Given the description of an element on the screen output the (x, y) to click on. 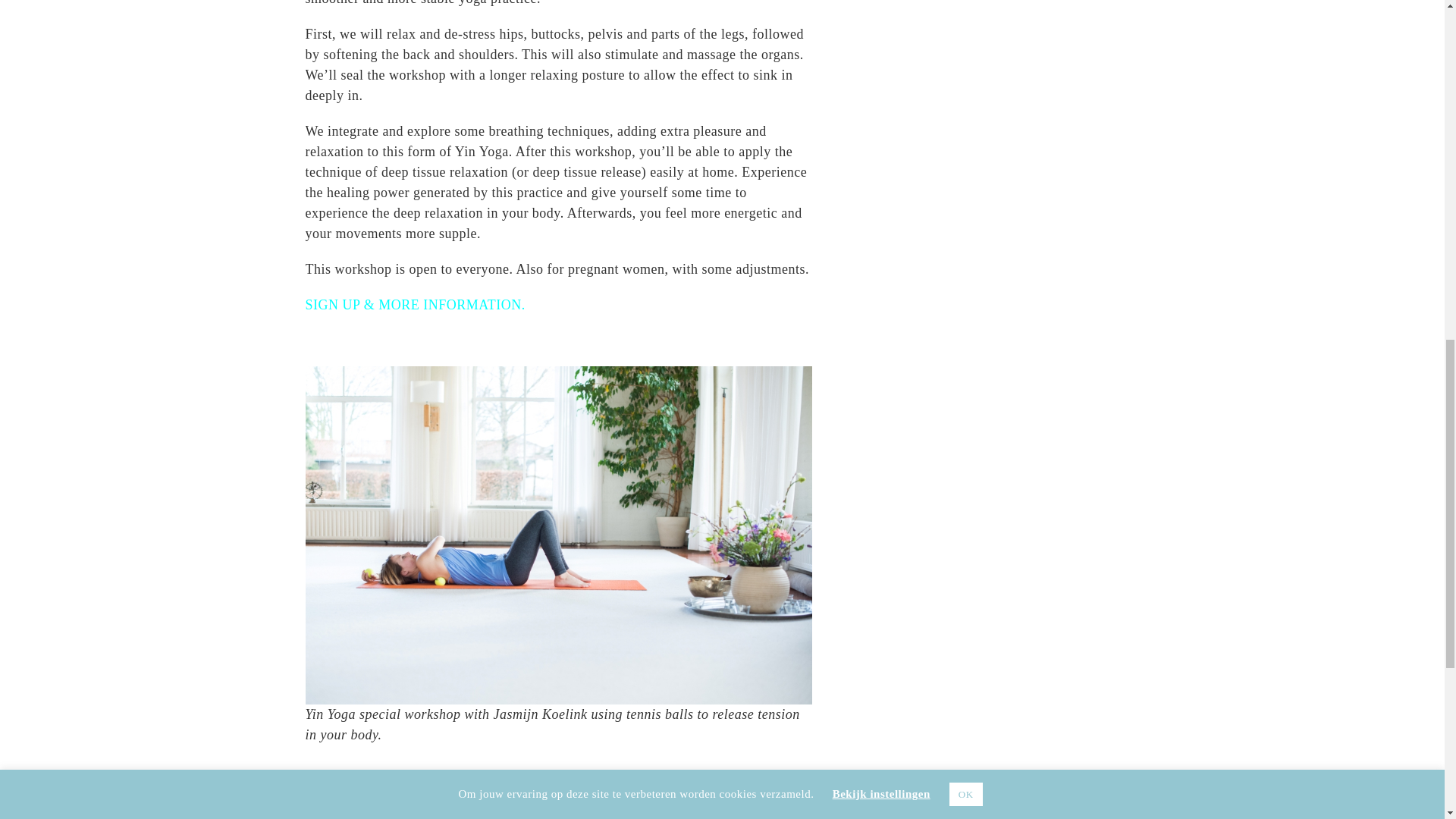
TOEVOEGEN AAN KALENDER (380, 809)
